Given the description of an element on the screen output the (x, y) to click on. 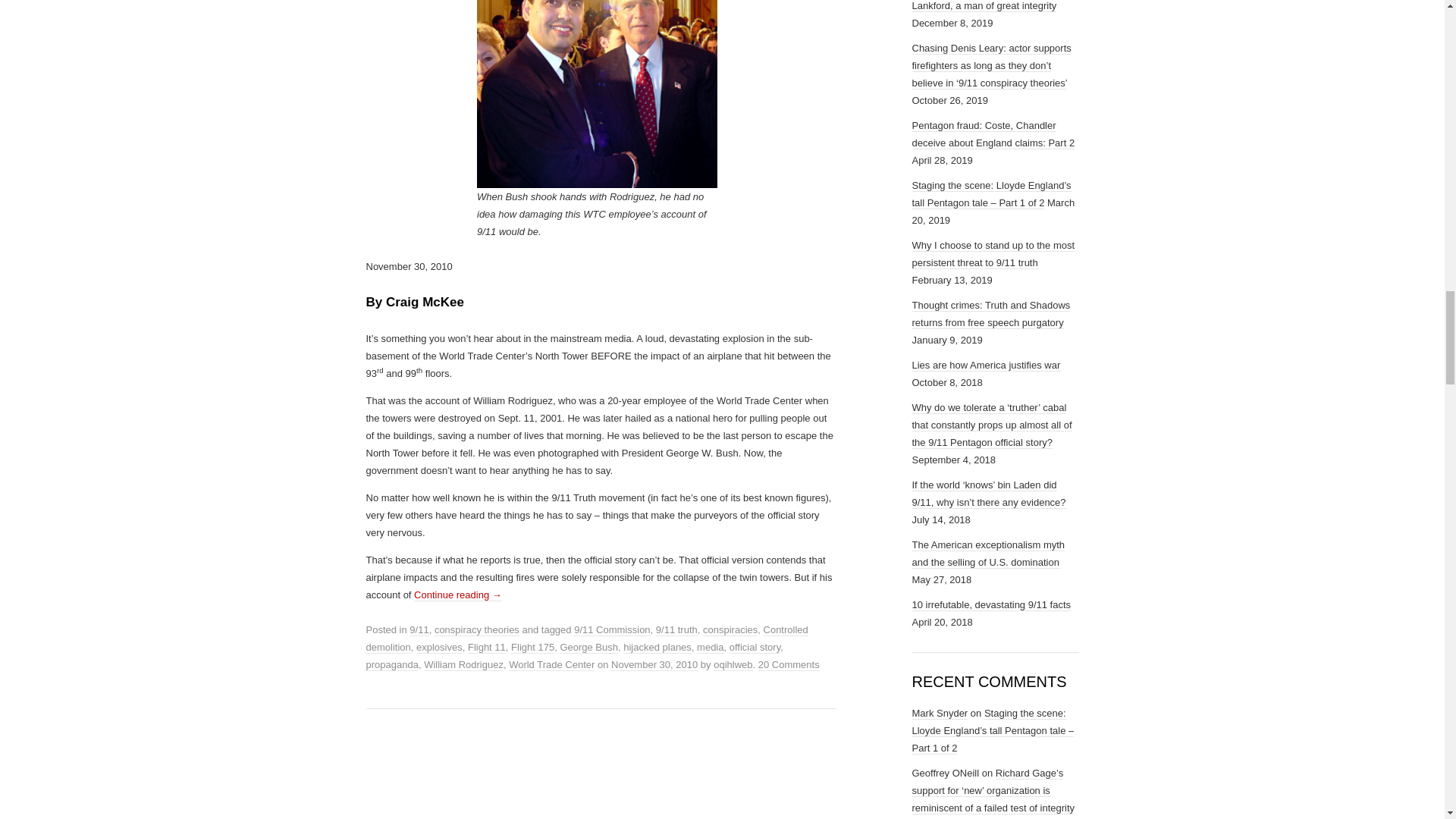
View all posts by oqihlweb (732, 664)
Rodriguez - Bush (597, 94)
10:46 pm (654, 664)
